Given the description of an element on the screen output the (x, y) to click on. 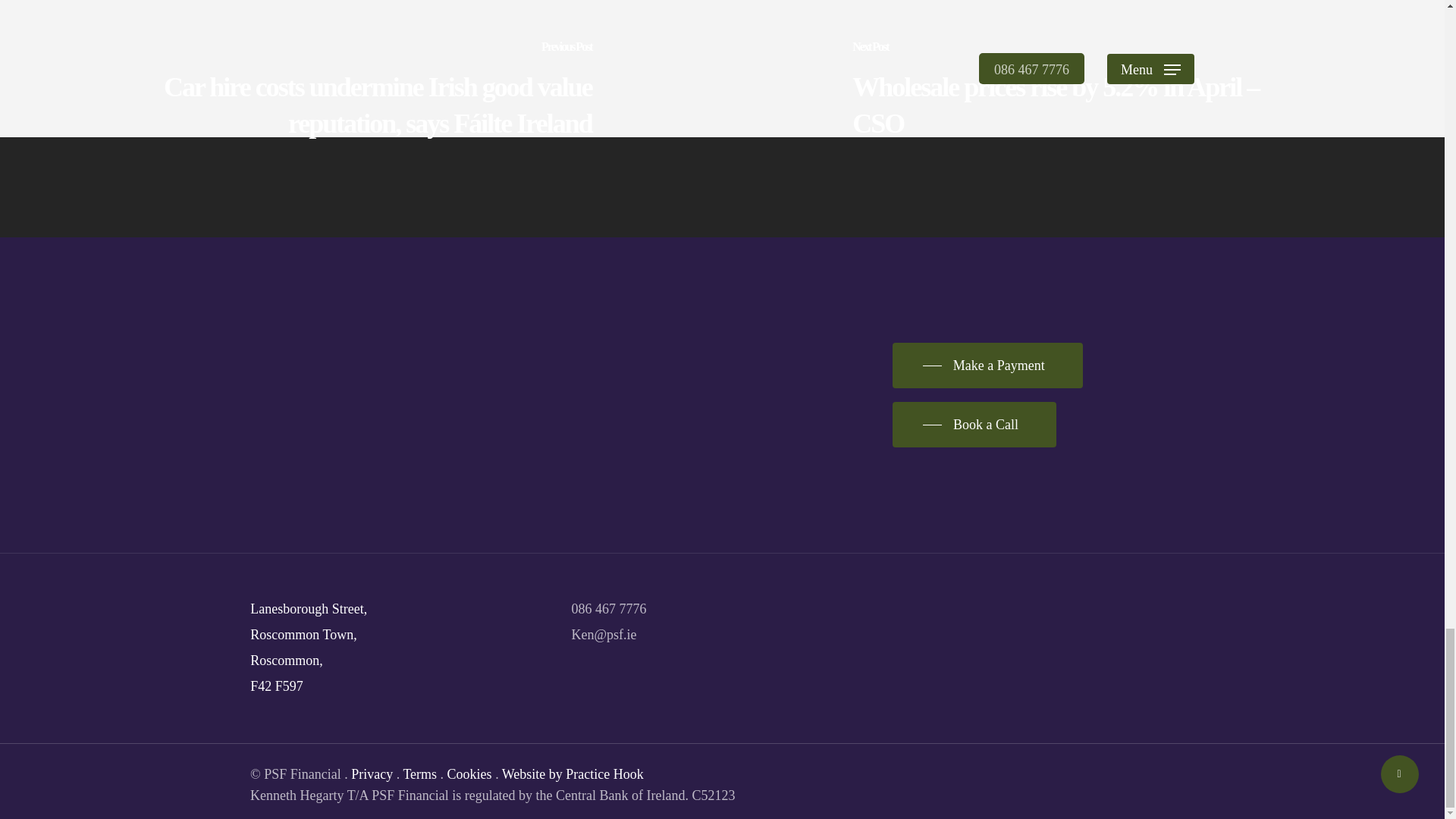
Terms (419, 774)
Privacy (371, 774)
Book a Call (974, 424)
Website by Practice Hook (572, 774)
Make a Payment (987, 365)
Cookies (469, 774)
086 467 7776 (609, 608)
